Given the description of an element on the screen output the (x, y) to click on. 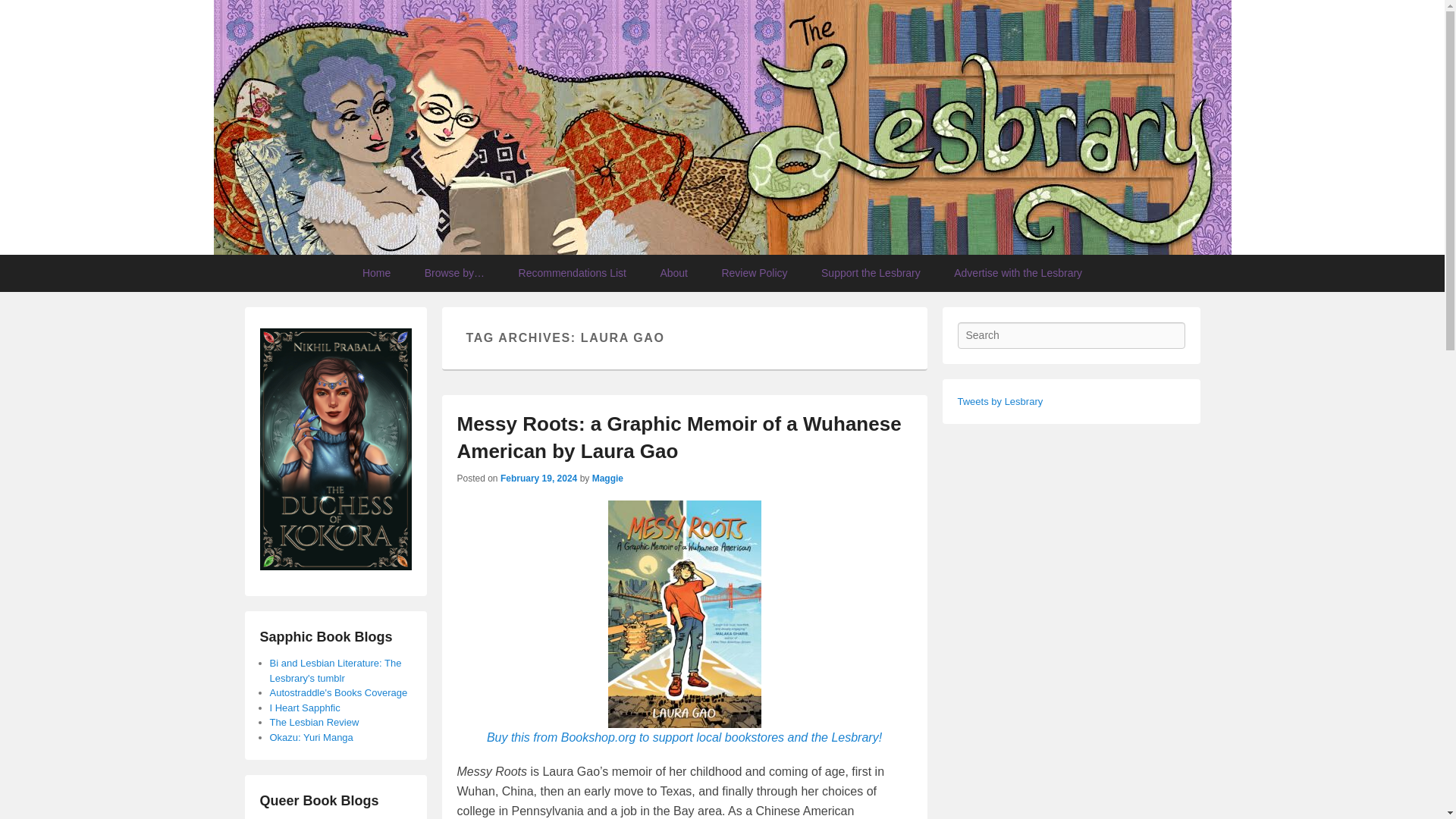
3:30 am (538, 478)
Home (376, 272)
View all posts by Maggie (607, 478)
